Given the description of an element on the screen output the (x, y) to click on. 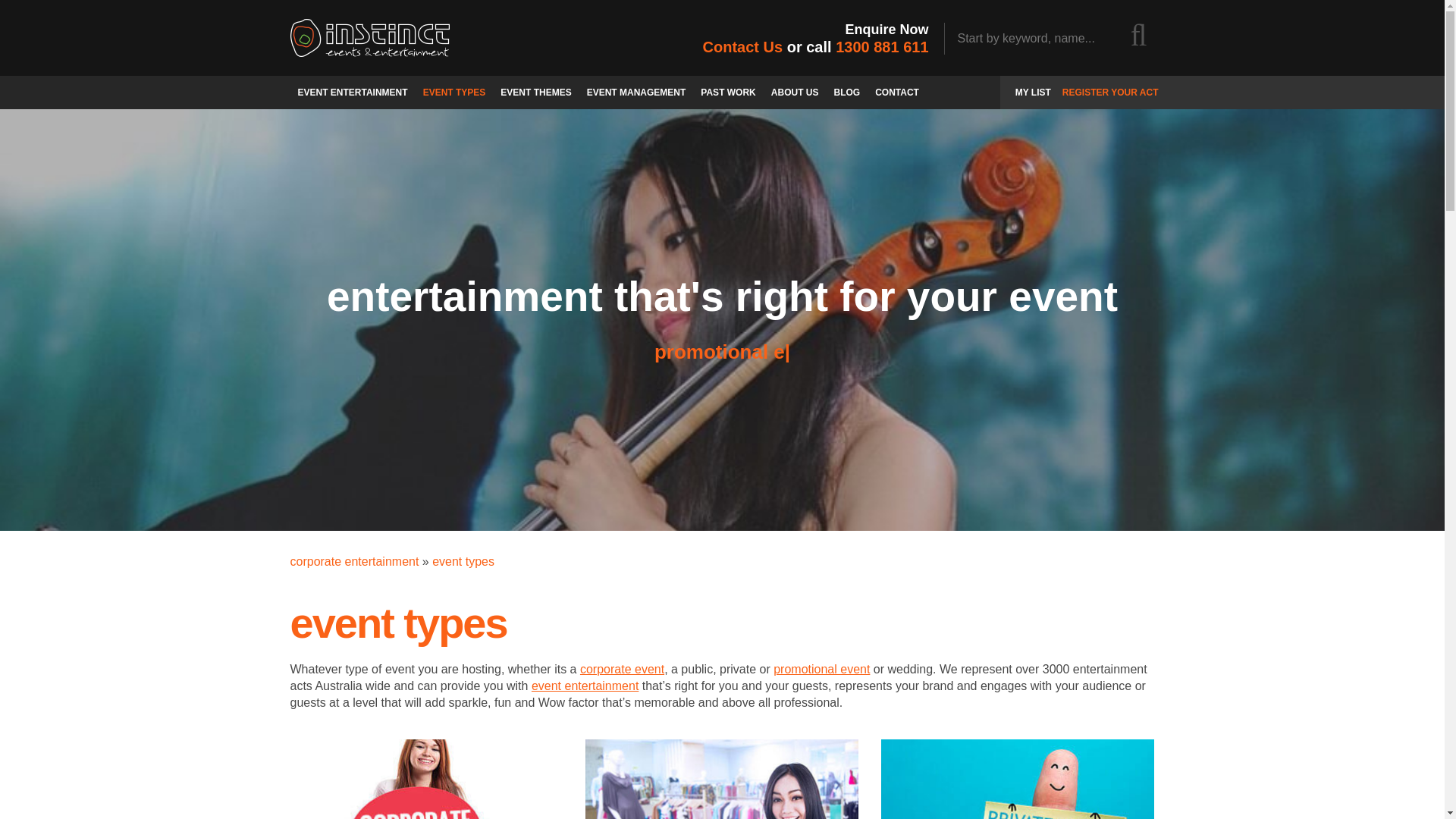
REGISTER YOUR ACT (1109, 92)
1300 881 611 (881, 46)
MY LIST (1032, 92)
EVENT ENTERTAINMENT (351, 92)
Instinct Music (368, 37)
Contact Us (743, 46)
